Given the description of an element on the screen output the (x, y) to click on. 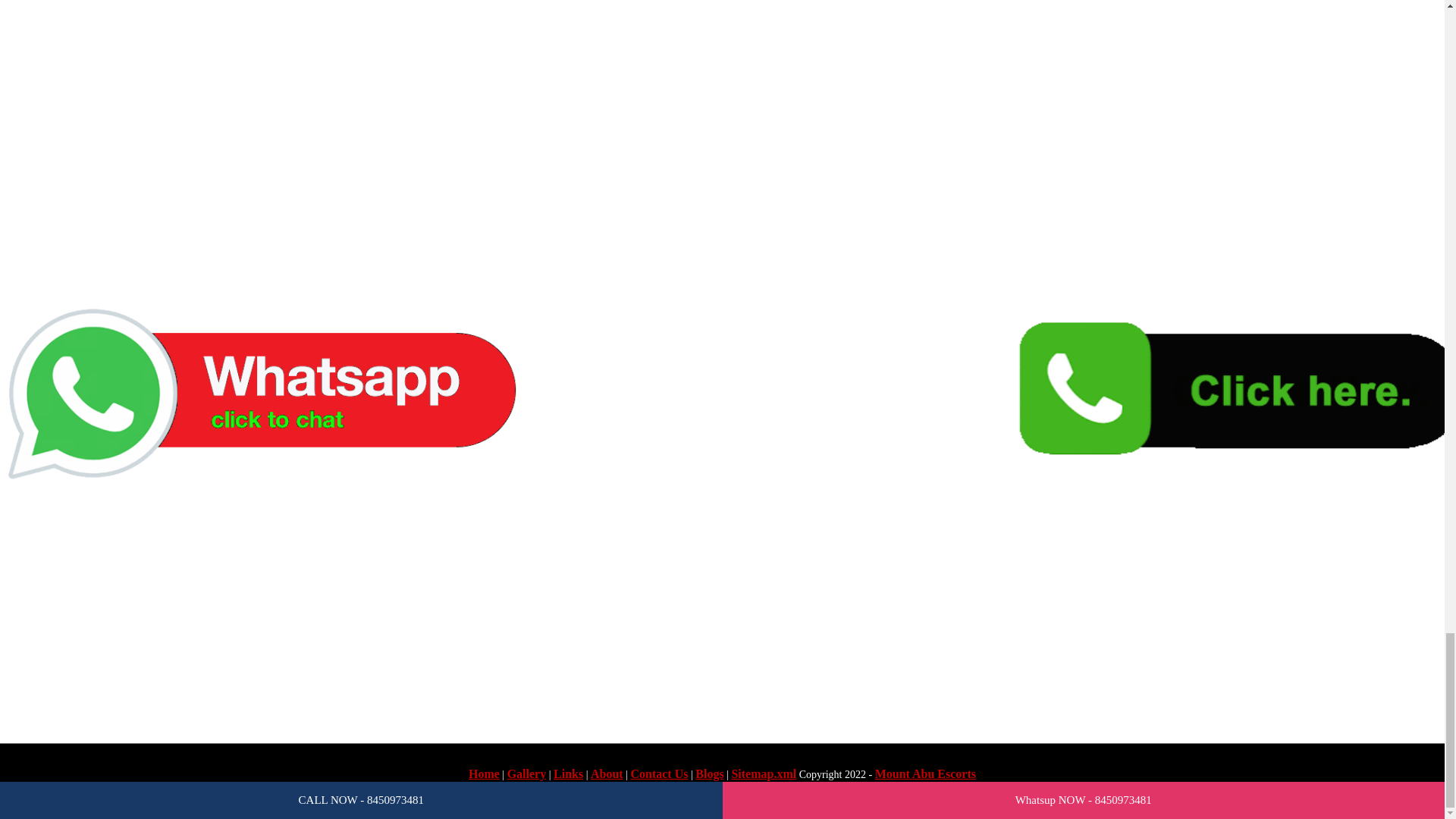
Gallery (526, 773)
About (607, 773)
Links (568, 773)
Contact Us (658, 773)
Blogs (709, 773)
Sitemap.xml (763, 773)
Home (483, 773)
